Given the description of an element on the screen output the (x, y) to click on. 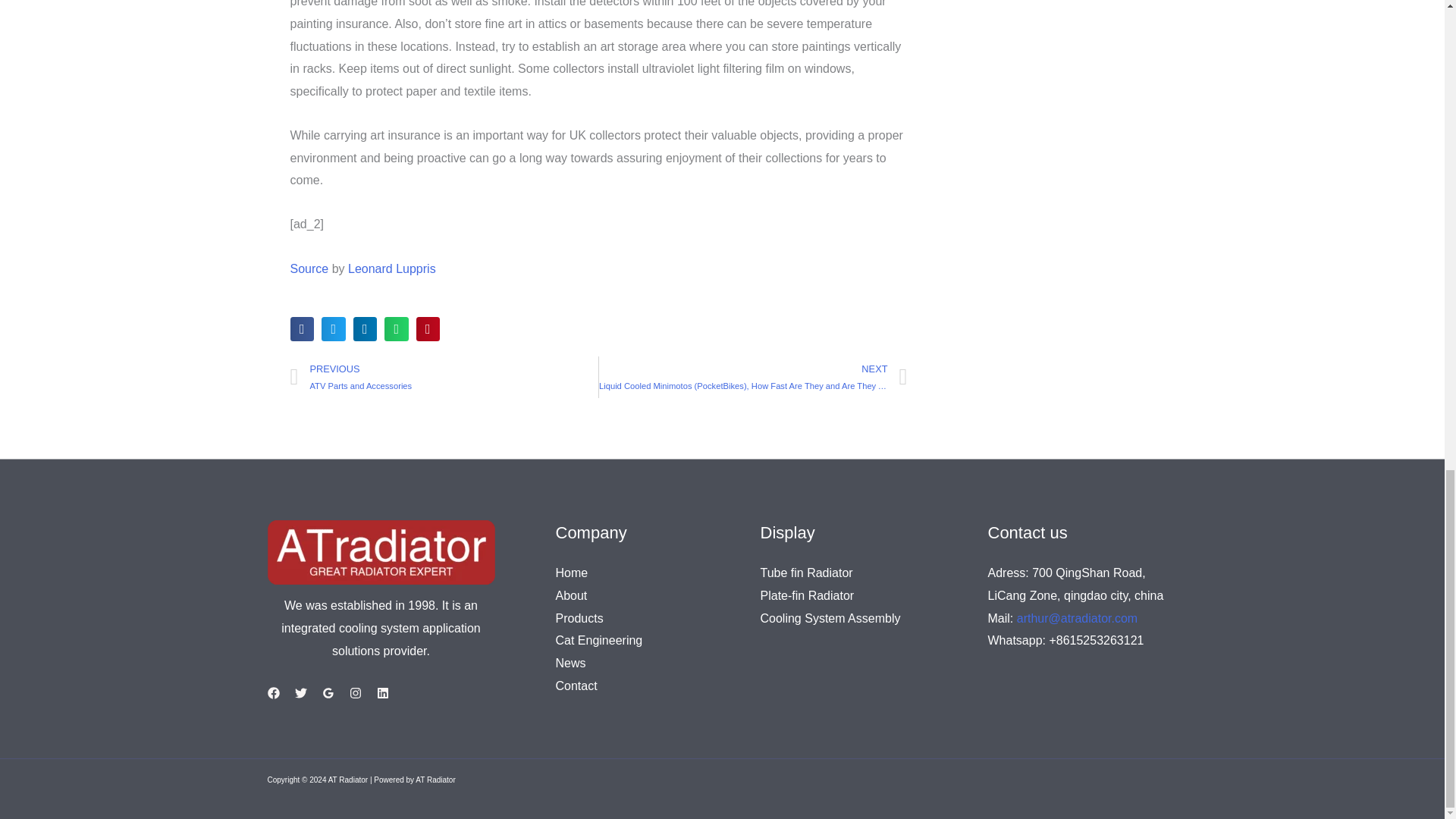
at radiator logo (380, 552)
